Given the description of an element on the screen output the (x, y) to click on. 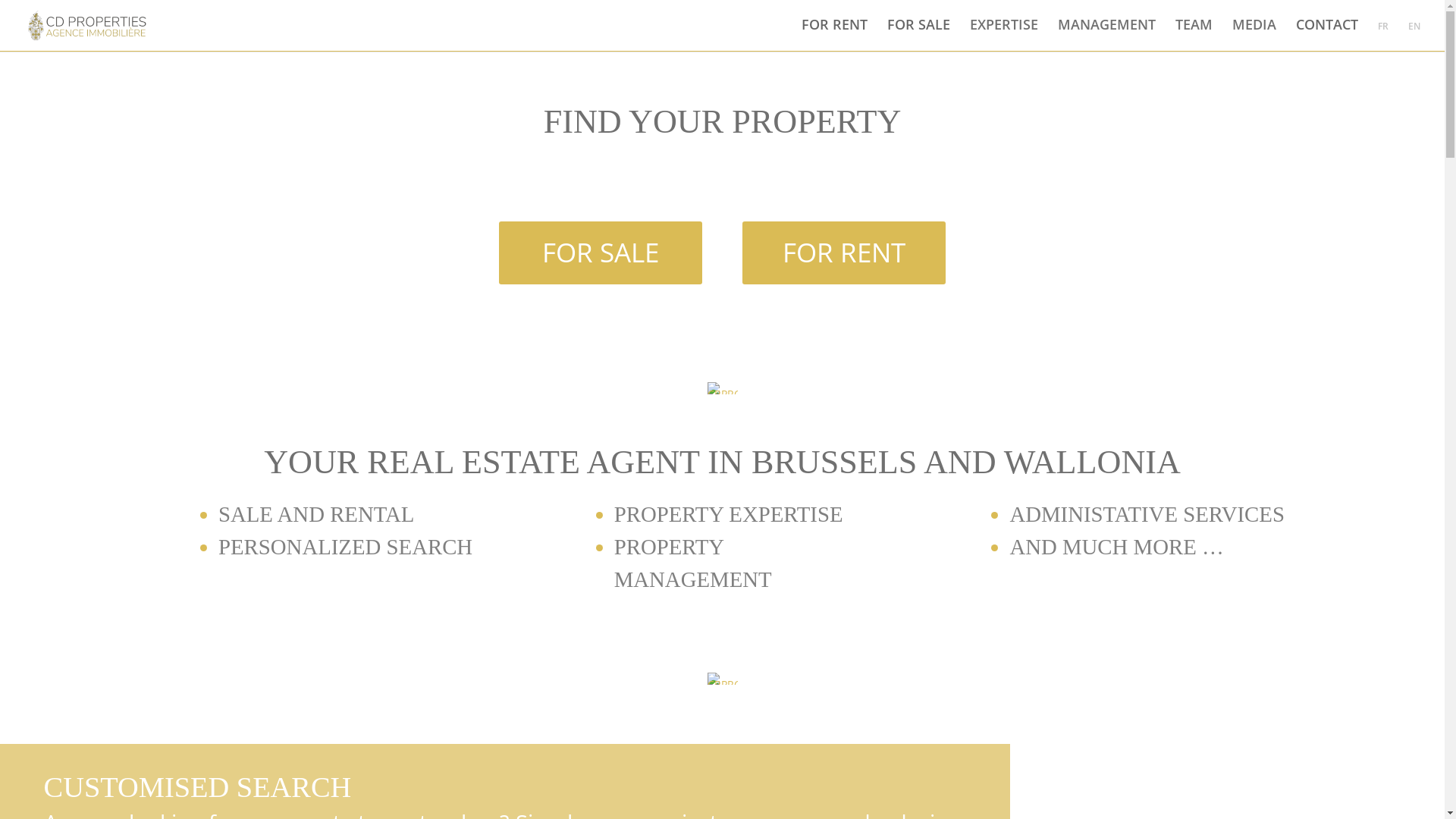
FOR RENT Element type: text (834, 33)
EN Element type: text (1414, 35)
FOR SALE Element type: text (918, 33)
FOR SALE Element type: text (600, 252)
CDPROPERTIES_IMMOBILIER_next-01-01-01 Element type: hover (721, 388)
FR Element type: text (1382, 35)
TEAM Element type: text (1193, 33)
EXPERTISE Element type: text (1003, 33)
CDPROPERTIES_IMMOBILIER_next-01-01-01 Element type: hover (721, 678)
CONTACT Element type: text (1326, 33)
MEDIA Element type: text (1254, 33)
MANAGEMENT Element type: text (1106, 33)
FOR RENT Element type: text (844, 252)
